Given the description of an element on the screen output the (x, y) to click on. 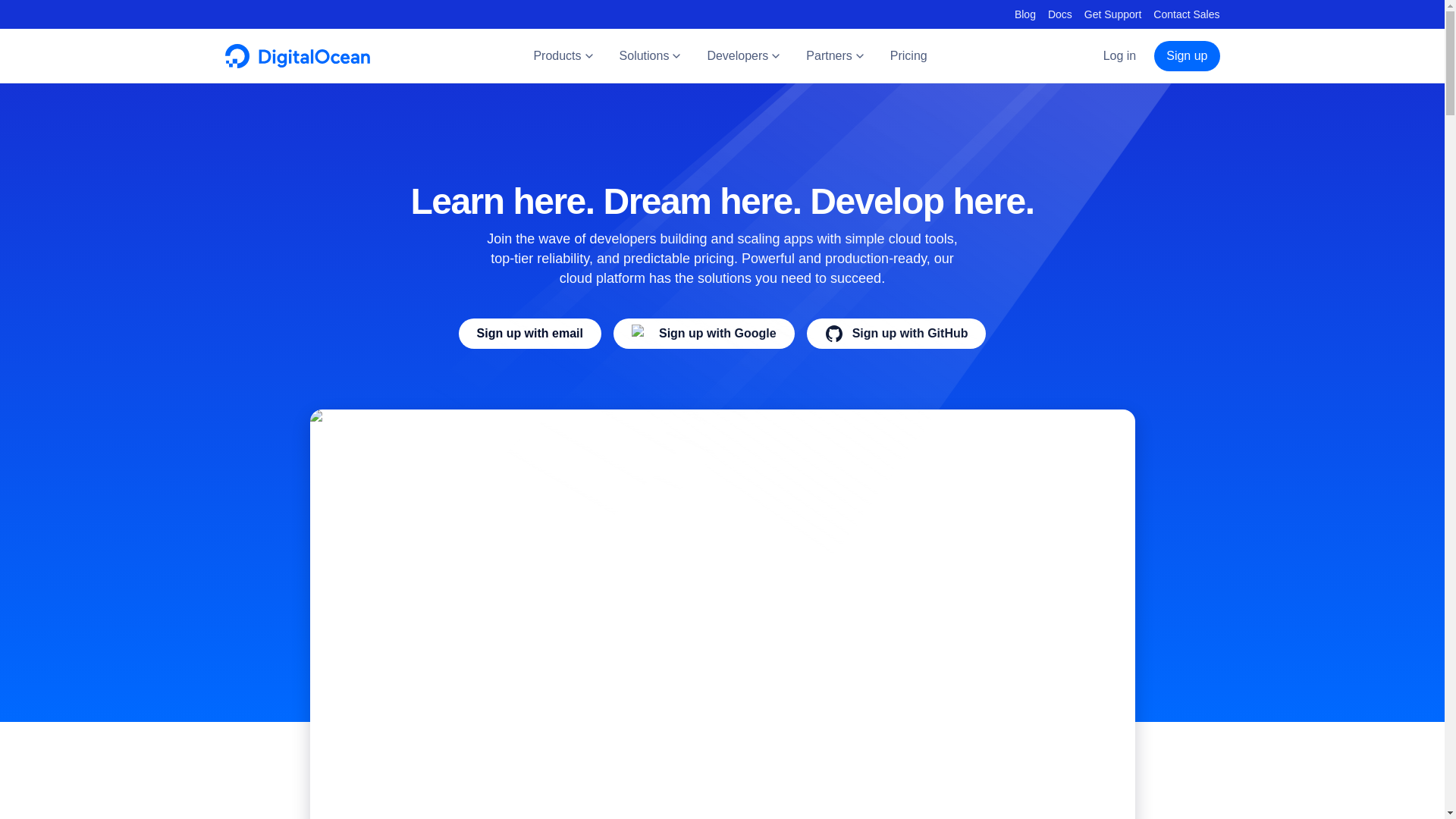
Blog (1024, 14)
Products (564, 55)
Contact Sales (1186, 14)
Get Support (1112, 14)
Docs (1059, 14)
DigitalOcean (296, 63)
